Given the description of an element on the screen output the (x, y) to click on. 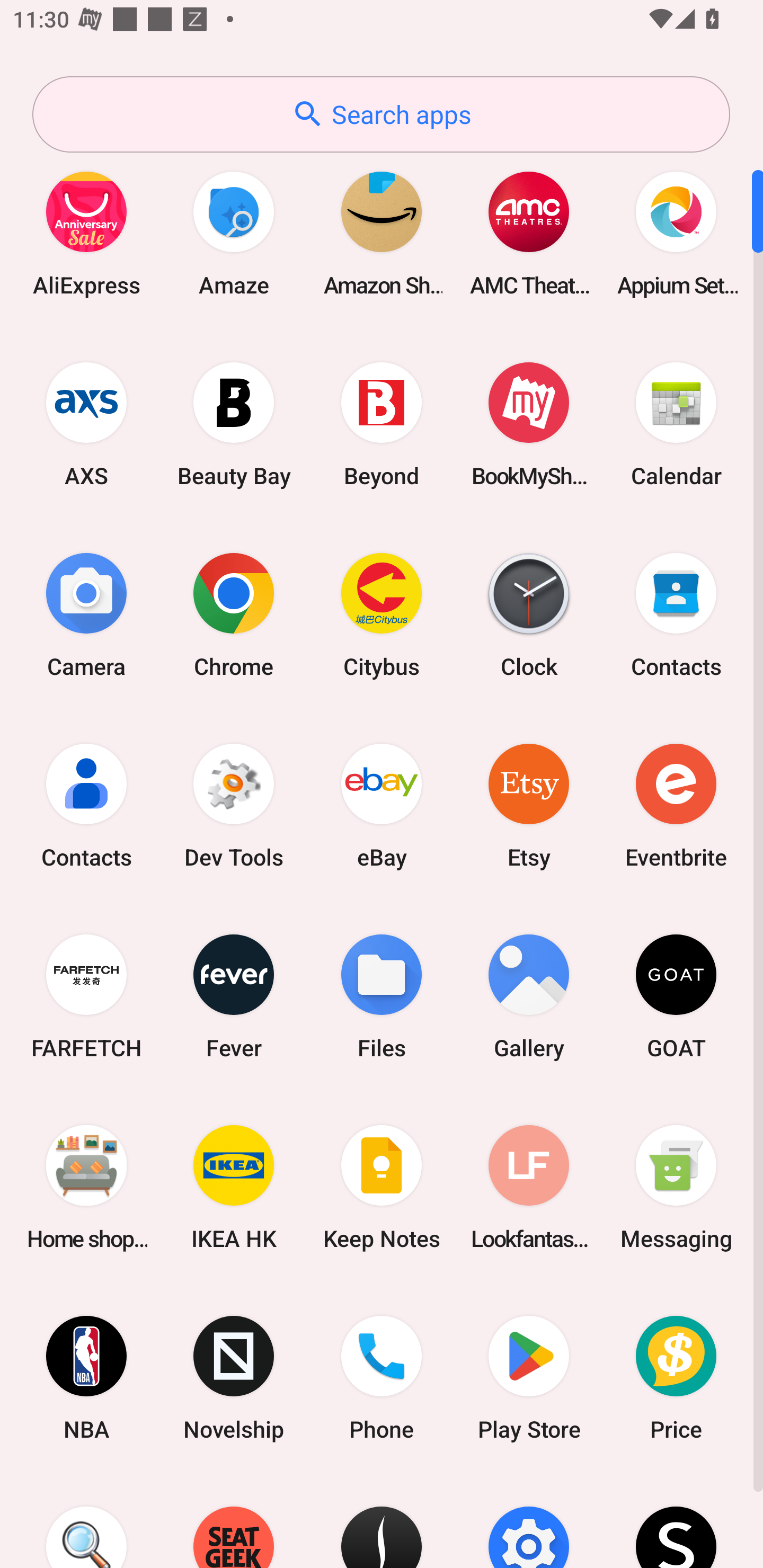
  Search apps (381, 114)
AliExpress (86, 233)
Amaze (233, 233)
Amazon Shopping (381, 233)
AMC Theatres (528, 233)
Appium Settings (676, 233)
AXS (86, 424)
Beauty Bay (233, 424)
Beyond (381, 424)
BookMyShow (528, 424)
Calendar (676, 424)
Camera (86, 614)
Chrome (233, 614)
Citybus (381, 614)
Clock (528, 614)
Contacts (676, 614)
Contacts (86, 805)
Dev Tools (233, 805)
eBay (381, 805)
Etsy (528, 805)
Eventbrite (676, 805)
FARFETCH (86, 996)
Fever (233, 996)
Files (381, 996)
Gallery (528, 996)
GOAT (676, 996)
Home shopping (86, 1186)
IKEA HK (233, 1186)
Keep Notes (381, 1186)
Lookfantastic (528, 1186)
Messaging (676, 1186)
NBA (86, 1377)
Novelship (233, 1377)
Phone (381, 1377)
Play Store (528, 1377)
Price (676, 1377)
